Given the description of an element on the screen output the (x, y) to click on. 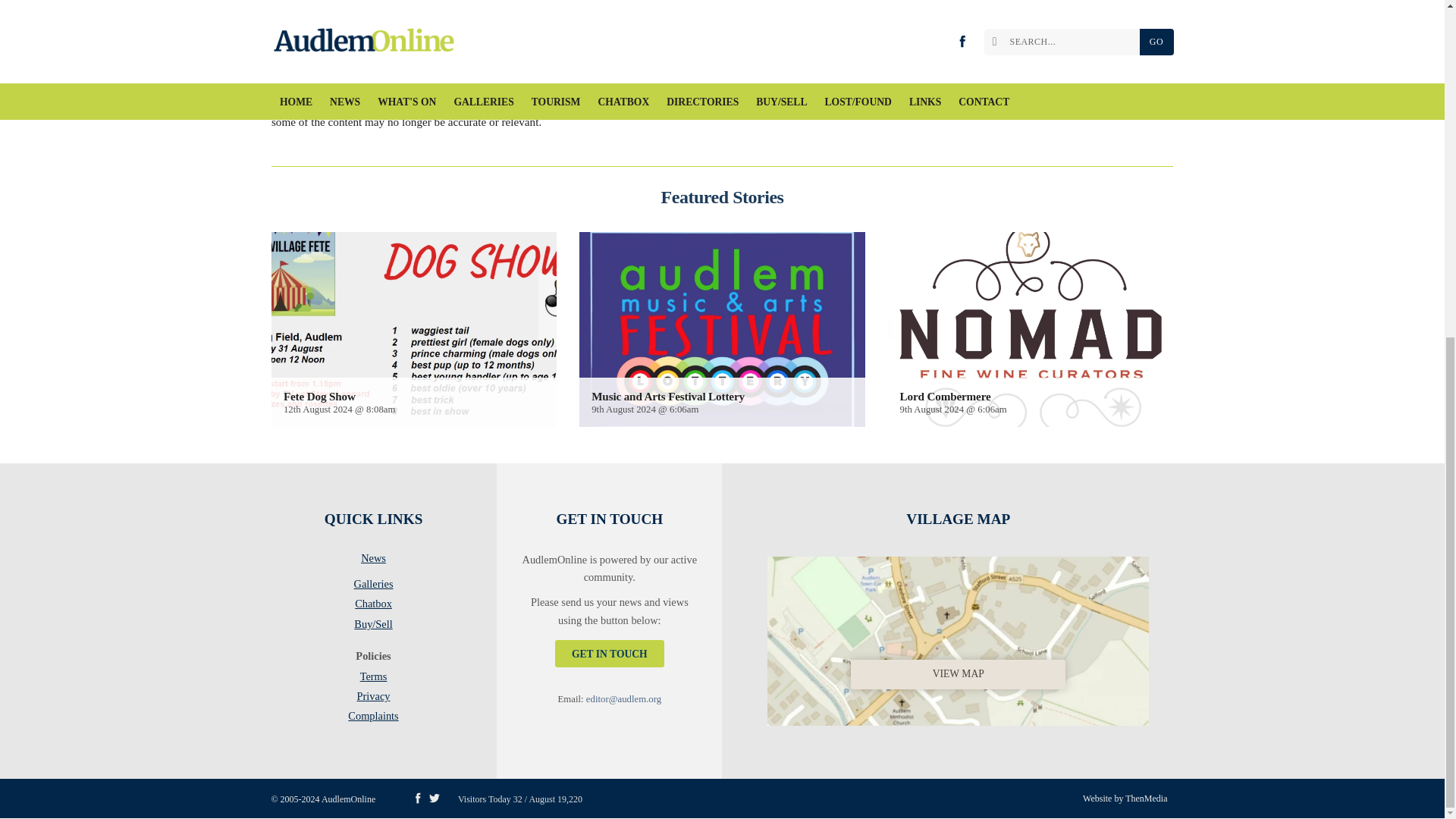
VIEW MAP (957, 638)
Privacy (373, 699)
Featured Stories (722, 197)
GET IN TOUCH (608, 653)
Chatbox (373, 606)
News (373, 560)
Visit our X Feed (434, 797)
Terms (373, 679)
Complaints (373, 715)
